Given the description of an element on the screen output the (x, y) to click on. 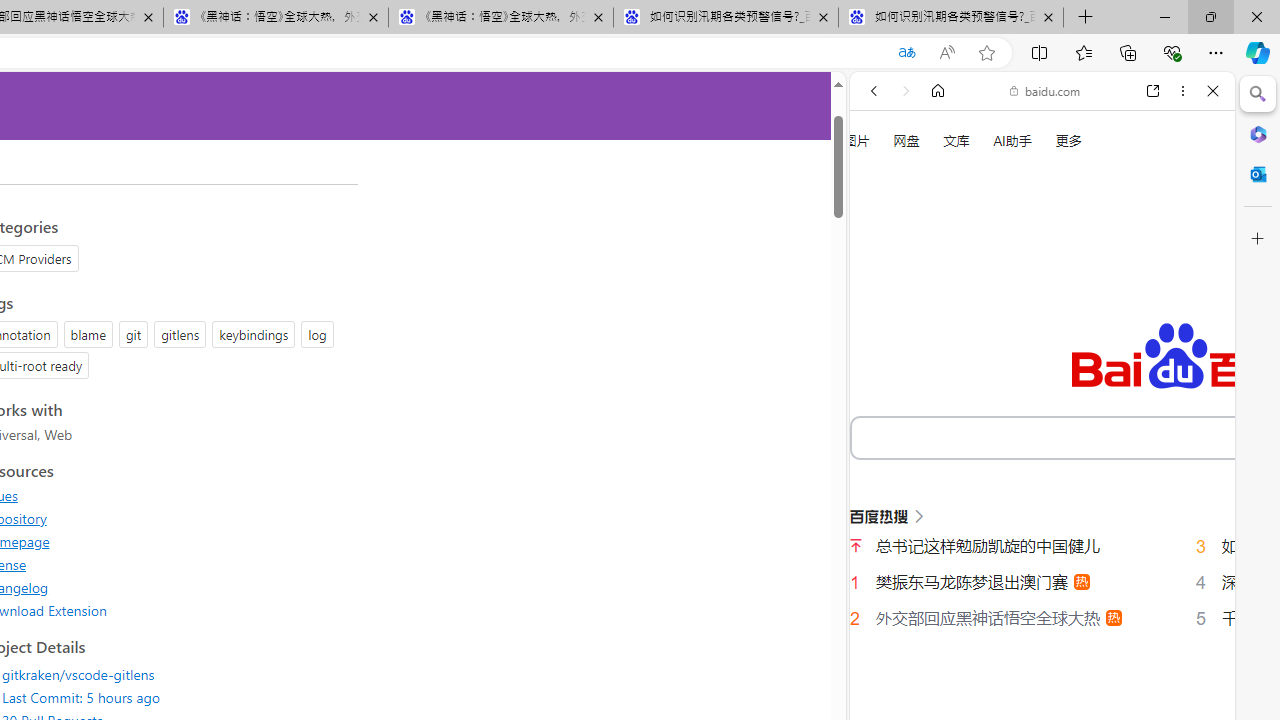
SEARCH TOOLS (1093, 339)
Search (1258, 94)
English (Uk) (1042, 622)
Global web icon (888, 698)
Translated (906, 53)
VIDEOS (1006, 339)
Web scope (882, 180)
Preferences (1189, 337)
